Given the description of an element on the screen output the (x, y) to click on. 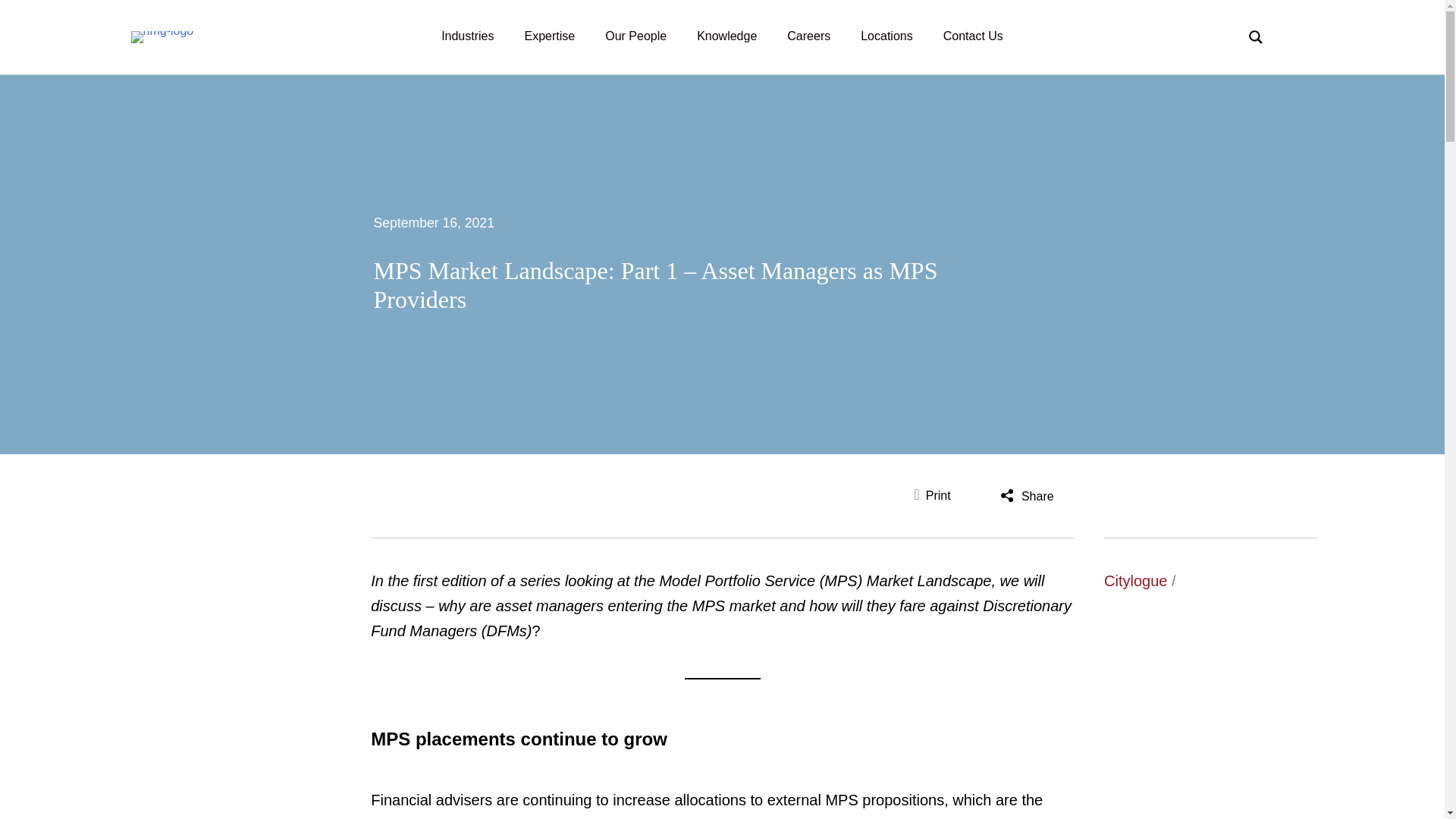
Industries (467, 37)
Share (1026, 496)
Our People (635, 37)
Contact Us (972, 37)
nmg-logo (162, 37)
Expertise (550, 37)
Locations (886, 37)
Print (935, 495)
Careers (808, 37)
Knowledge (726, 37)
